Given the description of an element on the screen output the (x, y) to click on. 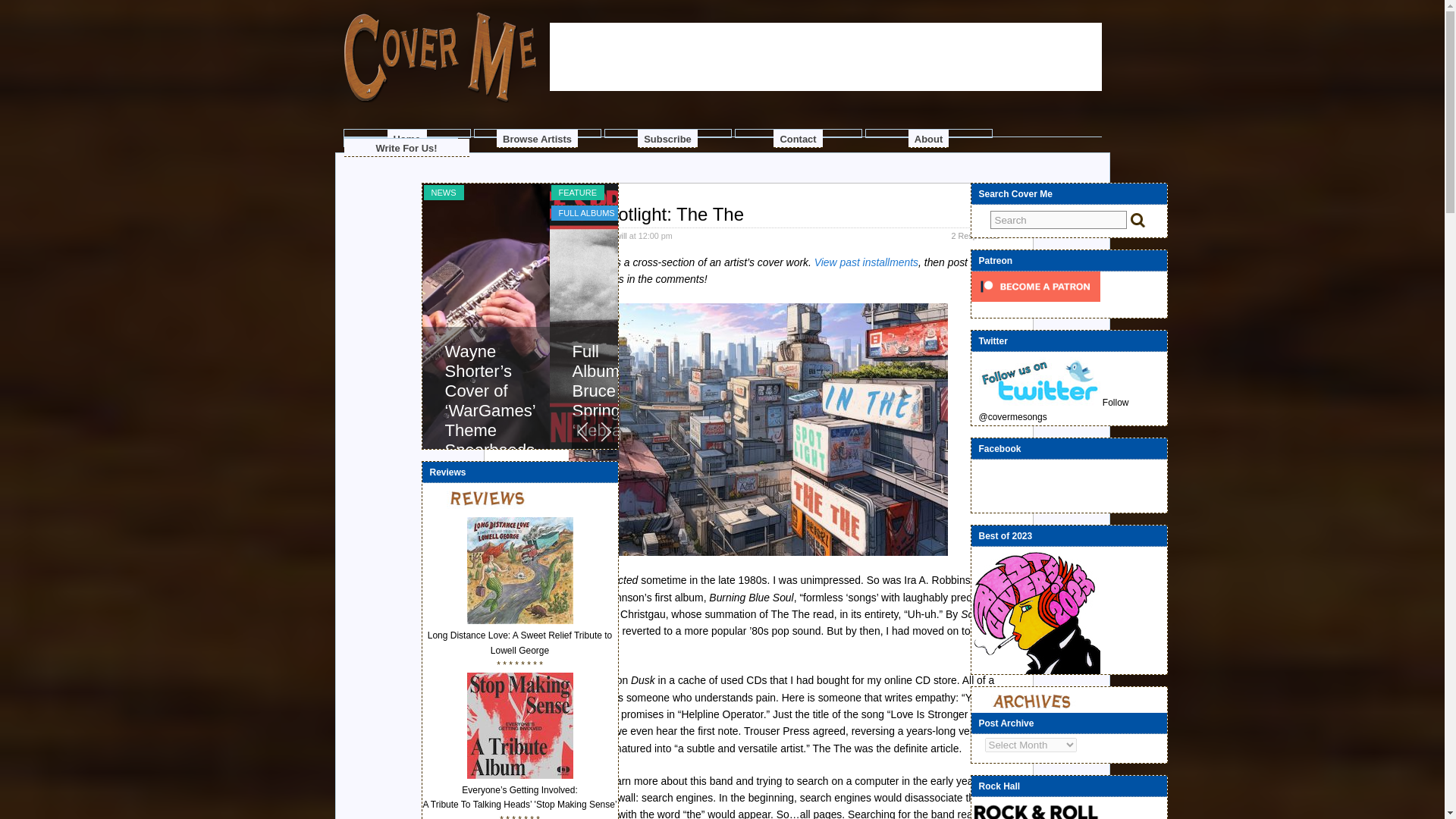
About (928, 138)
NEWS (443, 192)
In The Spotlight: The The (642, 213)
Contact (797, 138)
Home (406, 138)
FEATURE (577, 192)
Subscribe (667, 138)
Search (1058, 219)
Write For Us! (405, 147)
Advertisement (824, 140)
Sean Balkwill (602, 235)
View past installments (865, 262)
FULL ALBUMS (585, 212)
Search (1058, 219)
In The Spotlight: The The (642, 213)
